Given the description of an element on the screen output the (x, y) to click on. 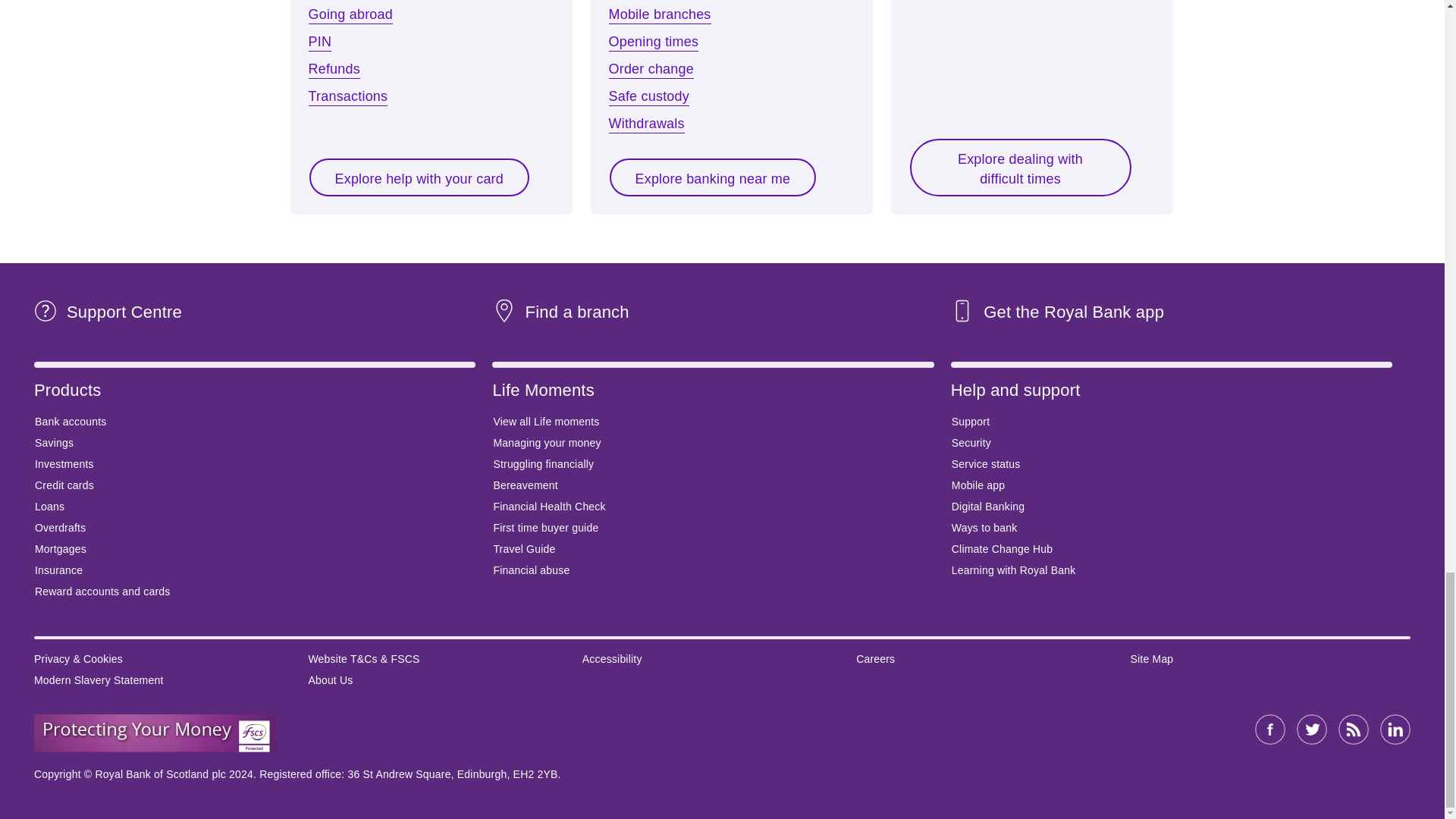
Explore banking near me (712, 176)
Explore dealing with difficult times (1019, 167)
Explore help with your card (418, 176)
fscs (154, 733)
